Given the description of an element on the screen output the (x, y) to click on. 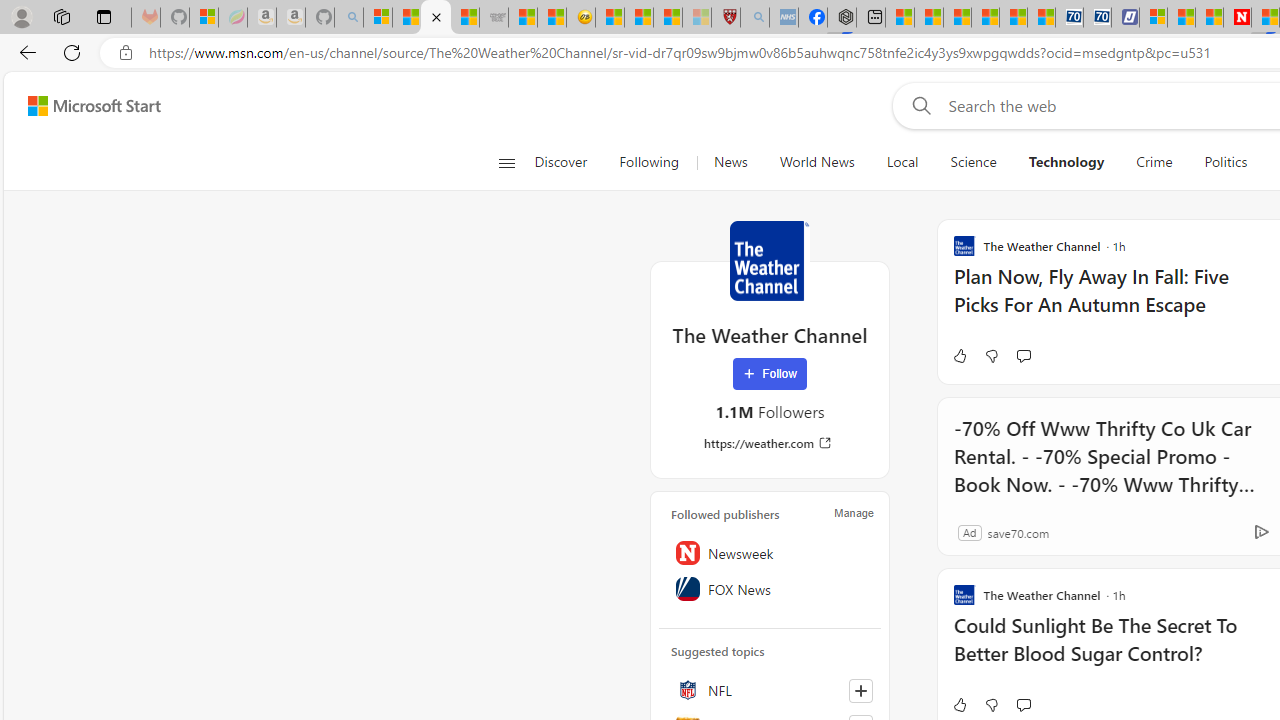
NFL (770, 690)
Plan Now, Fly Away In Fall: Five Picks For An Autumn Escape (1115, 300)
